Given the description of an element on the screen output the (x, y) to click on. 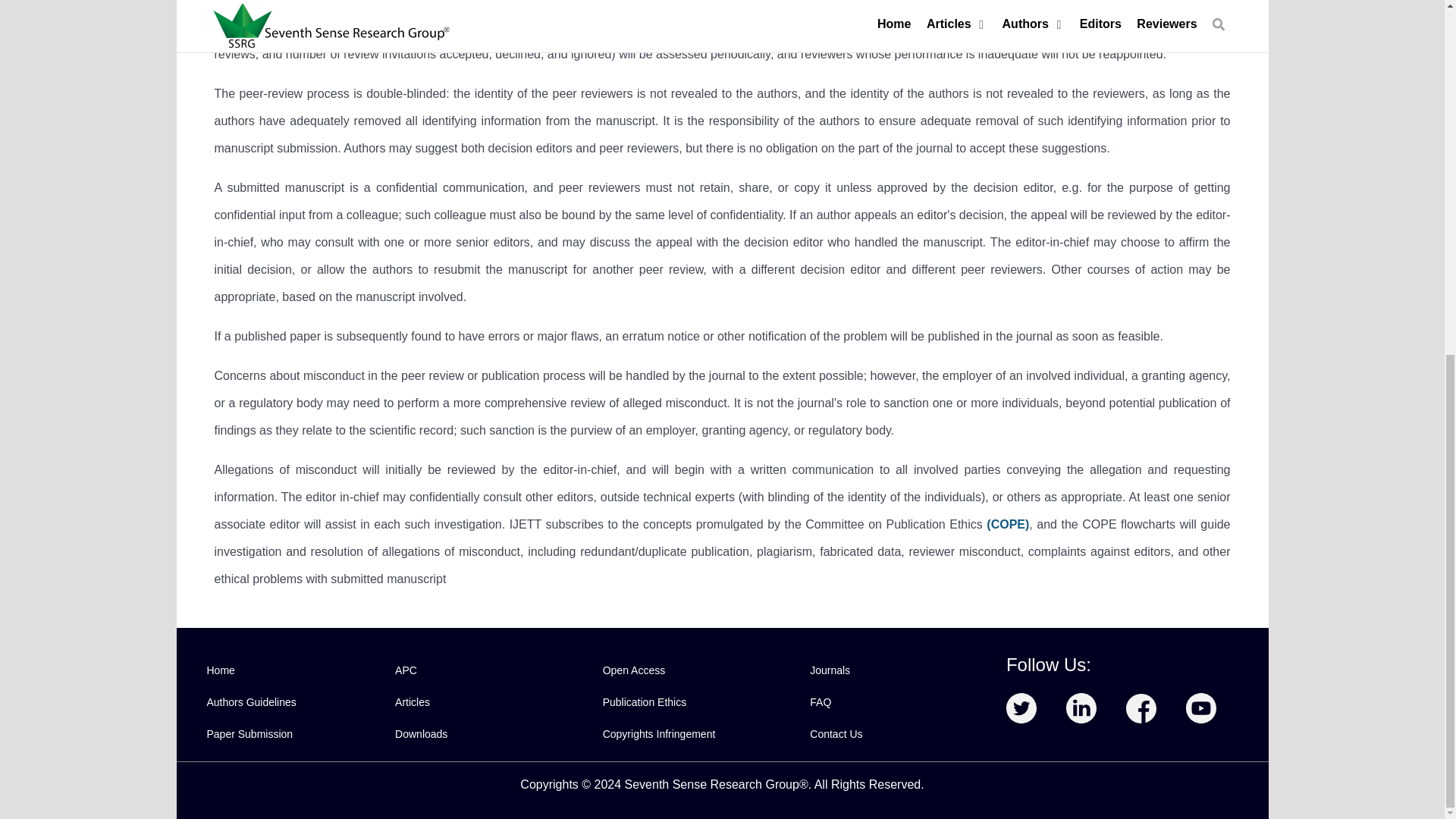
Articles (411, 701)
Authors Guidelines (250, 701)
Downloads (420, 733)
Publication Ethics (644, 701)
Copyrights Infringement (659, 733)
Home (220, 669)
Paper Submission (249, 733)
APC (405, 669)
Contact Us (835, 733)
FAQ (820, 701)
Journals (829, 669)
Open Access (633, 669)
